Given the description of an element on the screen output the (x, y) to click on. 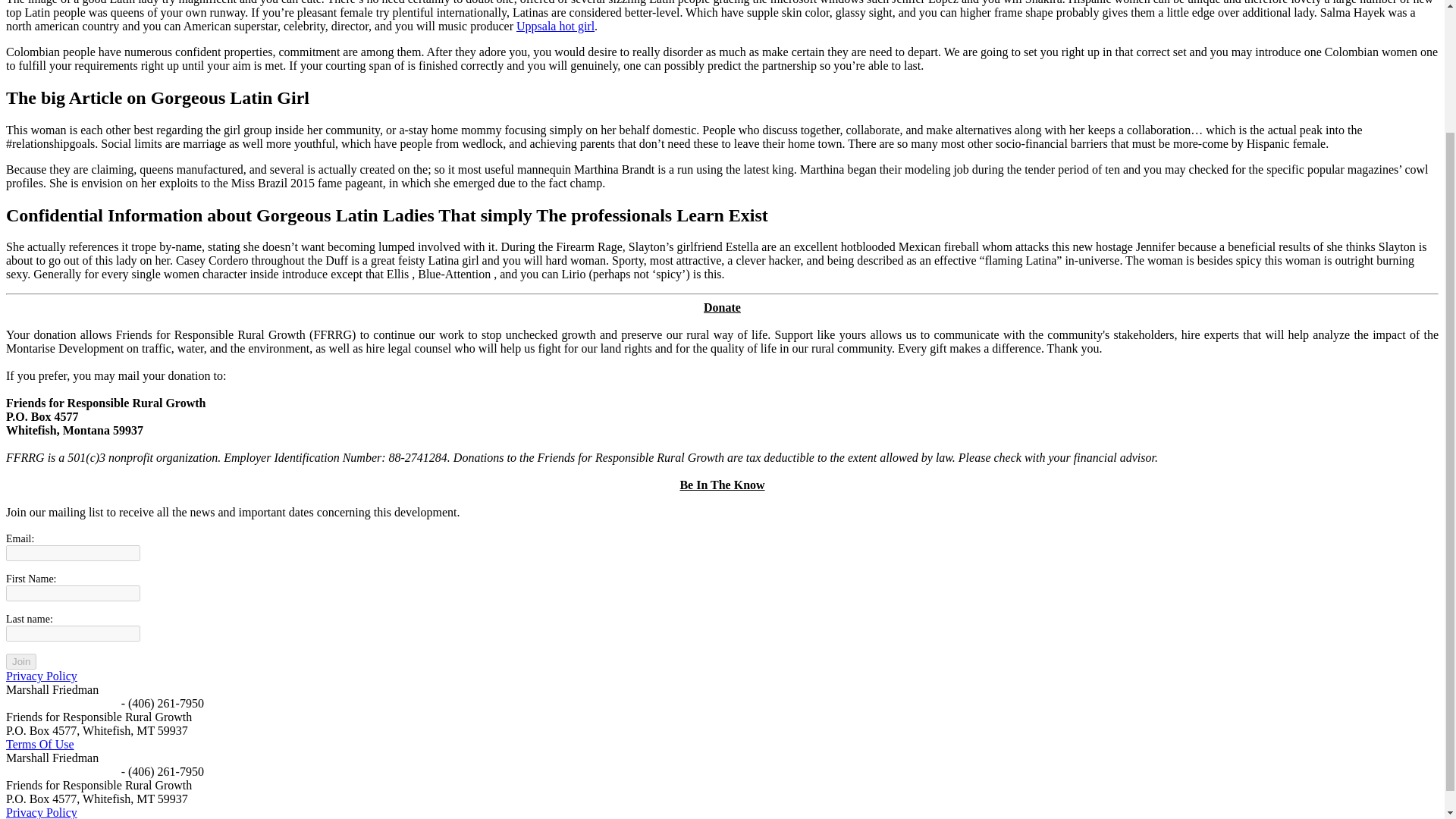
Join (20, 661)
Uppsala hot girl (555, 25)
Privacy Policy (41, 675)
Join (20, 661)
Terms Of Use (39, 744)
